Given the description of an element on the screen output the (x, y) to click on. 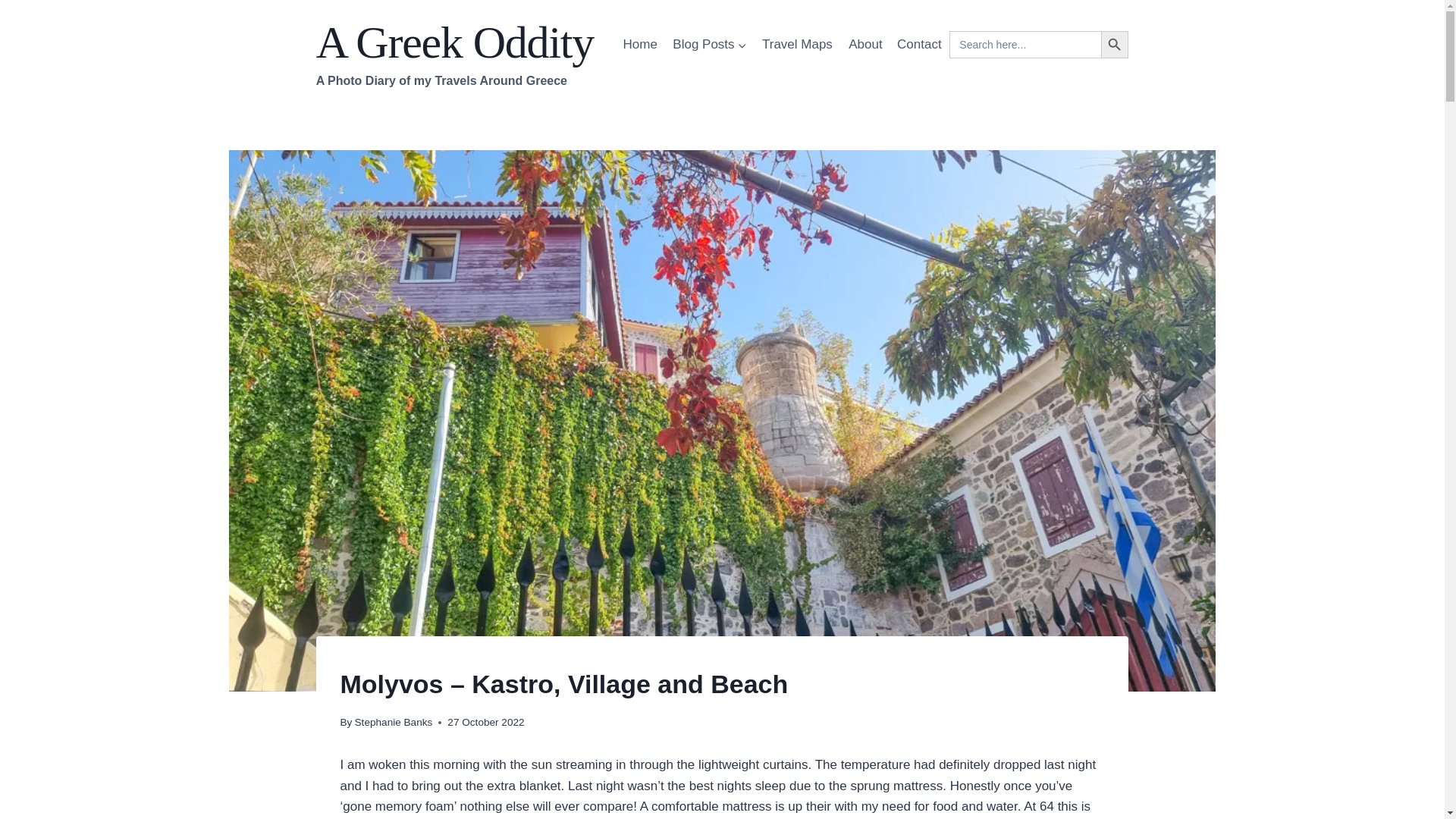
Stephanie Banks (393, 722)
Contact (919, 44)
Home (639, 44)
Travel Maps (797, 44)
About (454, 53)
Blog Posts (865, 44)
Search Button (710, 44)
